Given the description of an element on the screen output the (x, y) to click on. 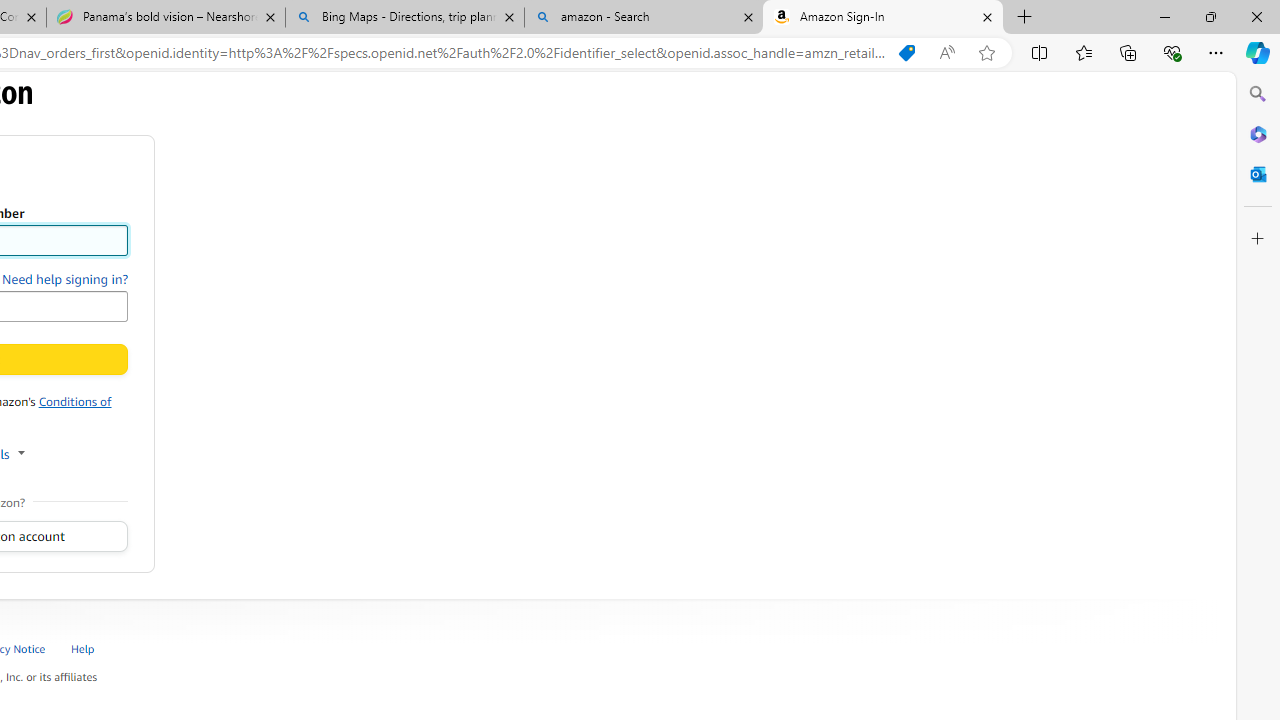
Need help signing in? (65, 279)
Amazon Sign-In (883, 17)
